Given the description of an element on the screen output the (x, y) to click on. 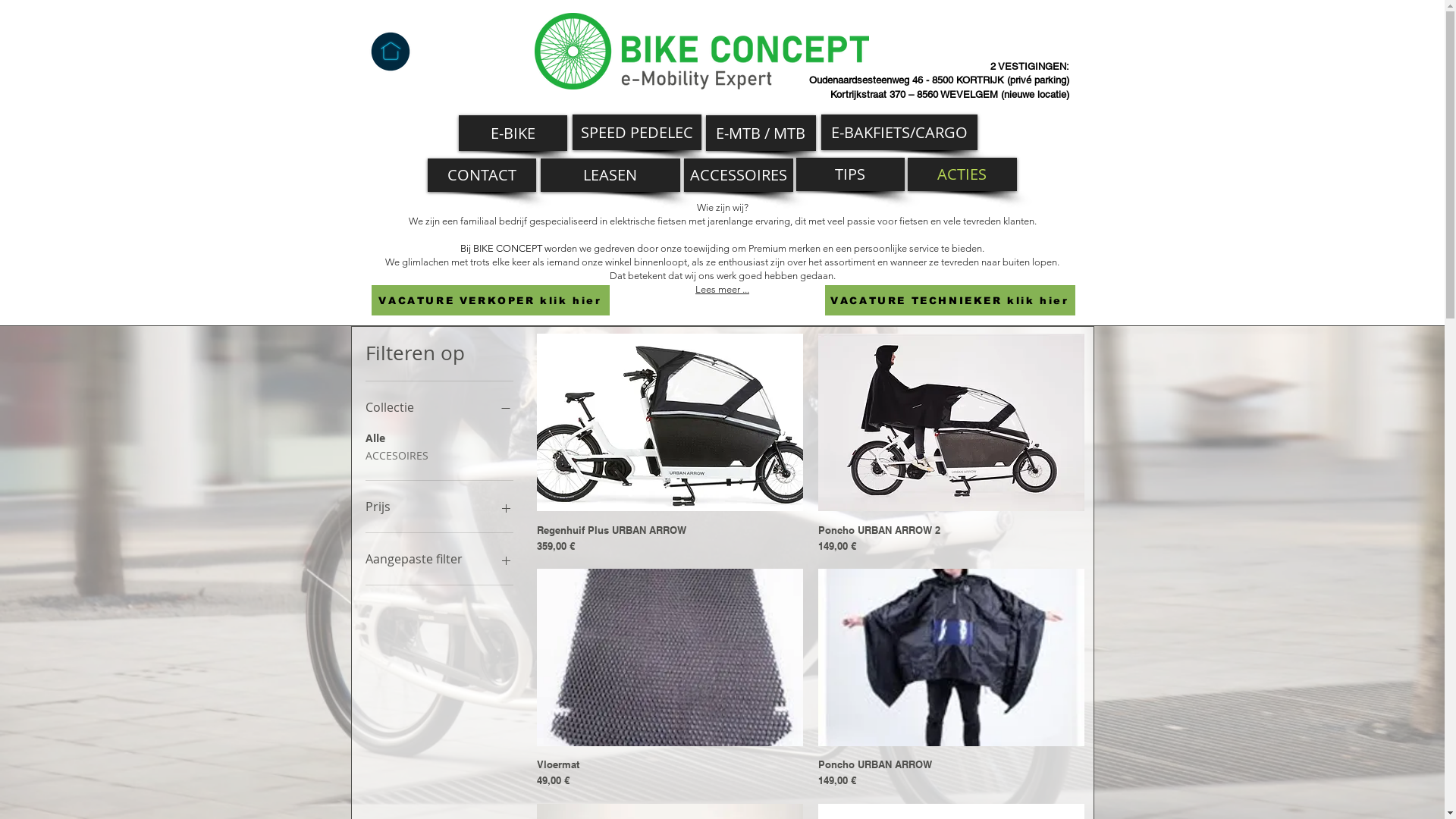
E-BAKFIETS/CARGO Element type: text (898, 132)
LEASEN Element type: text (609, 174)
ACCESSOIRES Element type: text (738, 174)
Lees meer ... Element type: text (722, 288)
VACATURE TECHNIEKER klik hier Element type: text (950, 300)
VACATURE VERKOPER klik hier Element type: text (490, 300)
TIPS Element type: text (850, 174)
SPEED PEDELEC Element type: text (635, 132)
Collectie Element type: text (439, 406)
CONTACT Element type: text (481, 174)
Aangepaste filter Element type: text (439, 558)
Prijs Element type: text (439, 506)
ACTIES Element type: text (961, 174)
E-BIKE Element type: text (512, 132)
E-MTB / MTB Element type: text (760, 132)
